Given the description of an element on the screen output the (x, y) to click on. 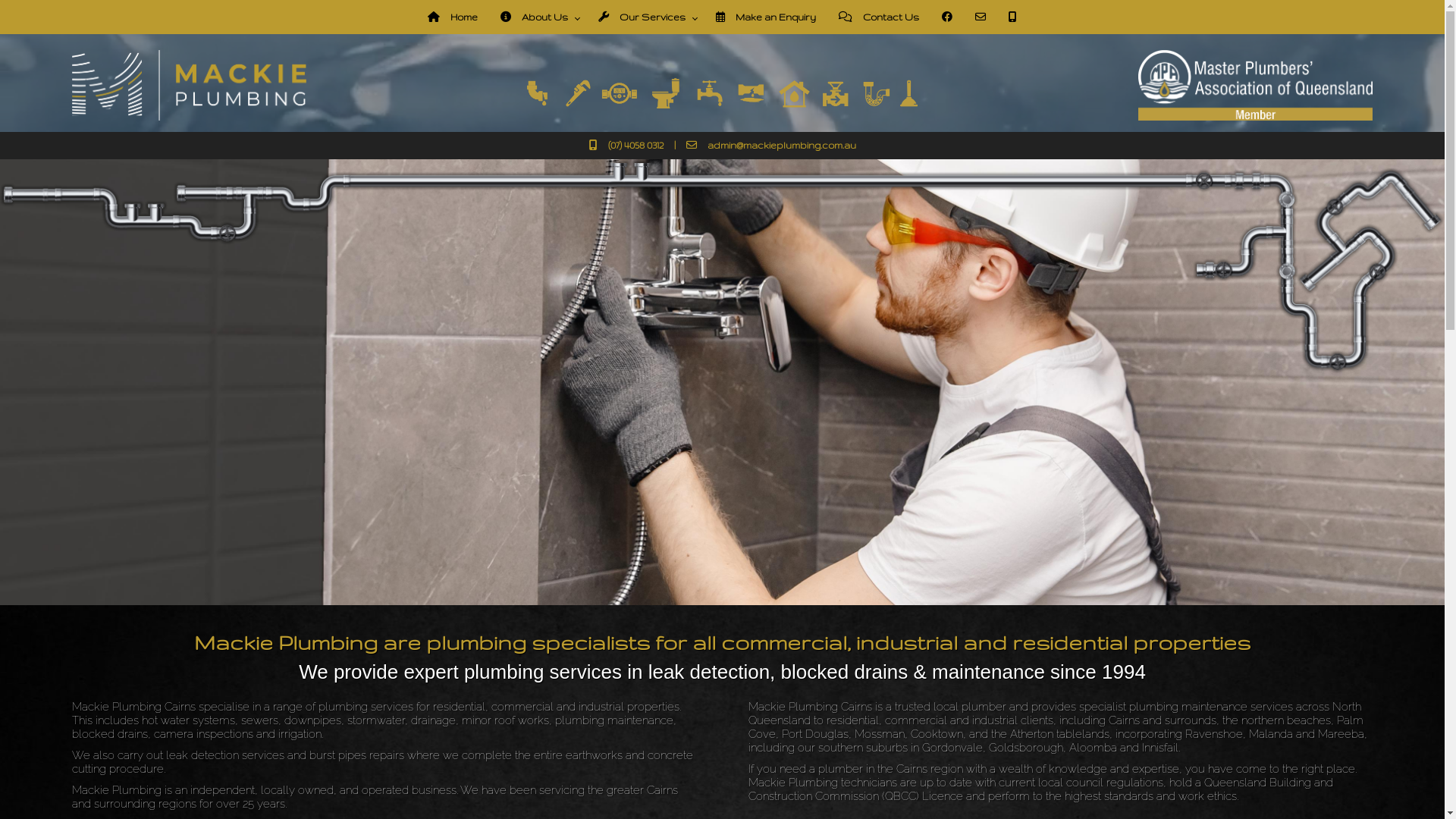
About Us Element type: text (537, 17)
(07) 4058 0312 Element type: text (625, 144)
Our Services Element type: text (645, 17)
Home Element type: text (452, 17)
admin@mackieplumbing.com.au Element type: text (770, 144)
Make an Enquiry Element type: text (765, 17)
Contact Us Element type: text (878, 17)
